Given the description of an element on the screen output the (x, y) to click on. 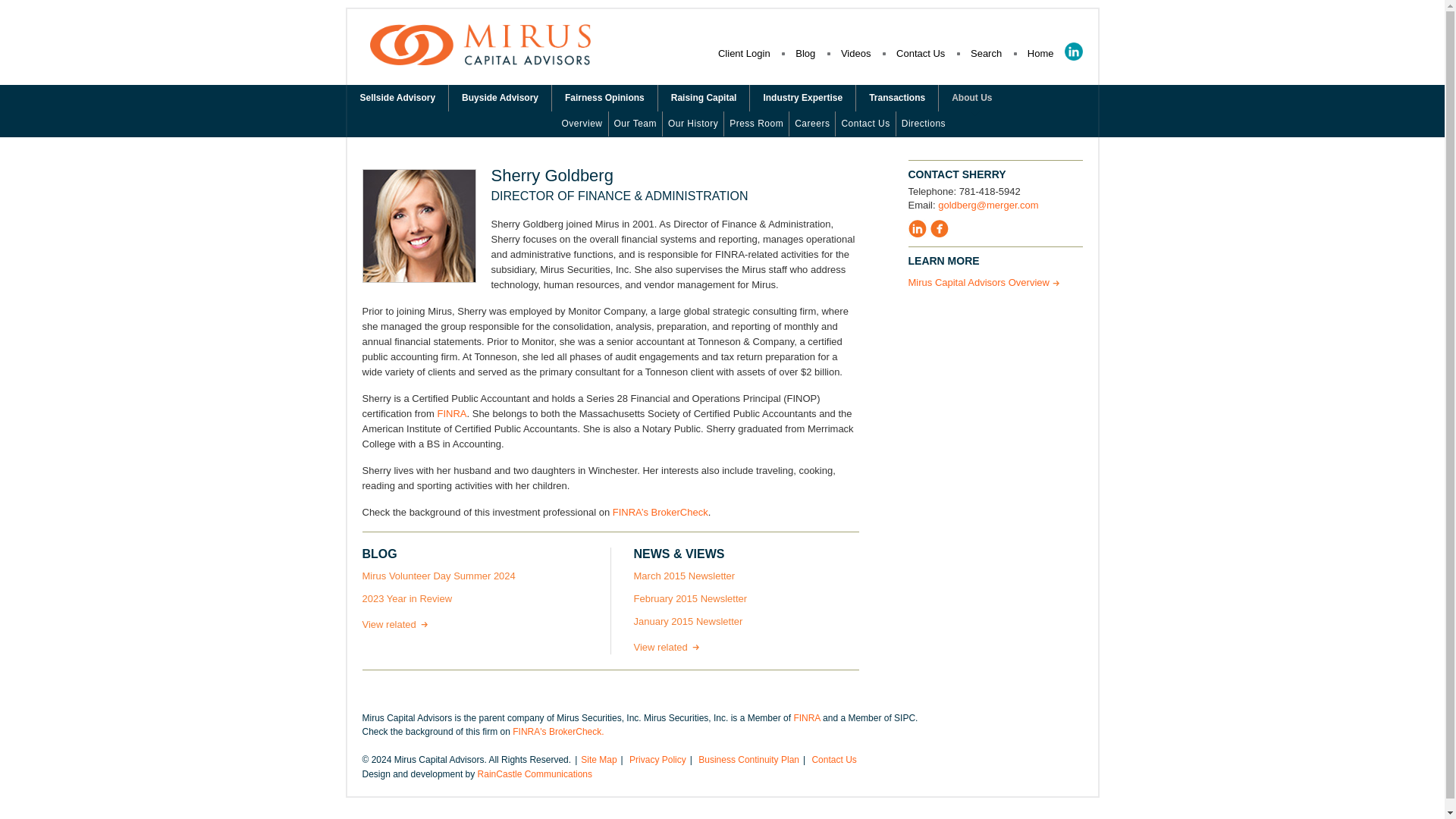
Client Login (743, 52)
LinkedIn (1073, 51)
Buyside Advisory (499, 98)
Raising Capital (703, 98)
Home (1040, 52)
Fairness Opinions (604, 98)
Search (986, 52)
Contact Us (920, 52)
Sellside Advisory (397, 98)
Videos (855, 52)
LinkedIn (1073, 51)
Mirus Capital Advisors (480, 58)
Industry Expertise (802, 98)
Blog (804, 52)
